Given the description of an element on the screen output the (x, y) to click on. 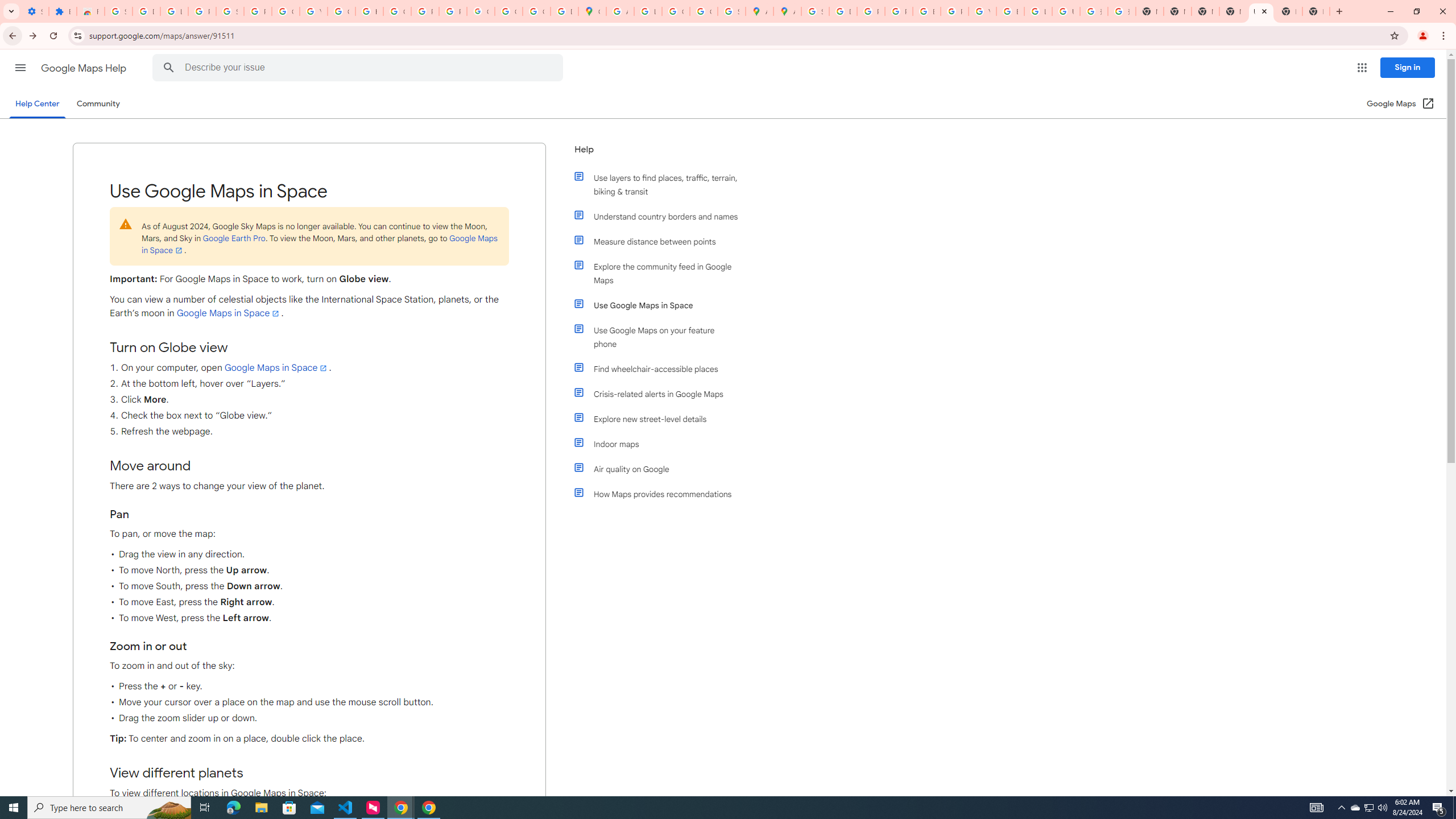
Reviews: Helix Fruit Jump Arcade Game (90, 11)
Use Google Maps in Space - Google Maps Help (1260, 11)
Create your Google Account (675, 11)
Google Maps Help (84, 68)
How Maps provides recommendations (661, 493)
https://scholar.google.com/ (369, 11)
